Given the description of an element on the screen output the (x, y) to click on. 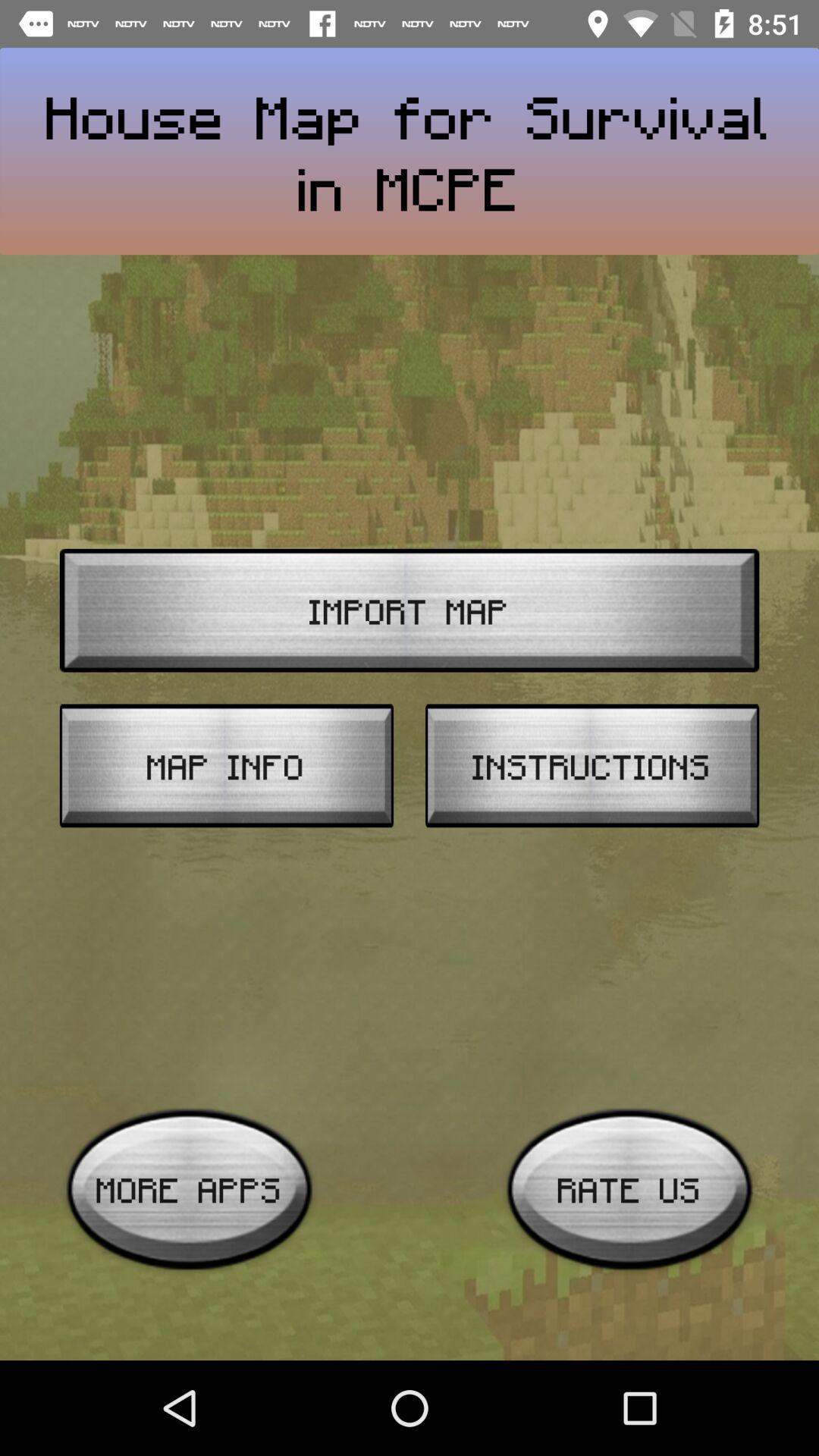
launch the icon to the right of more apps item (629, 1188)
